Given the description of an element on the screen output the (x, y) to click on. 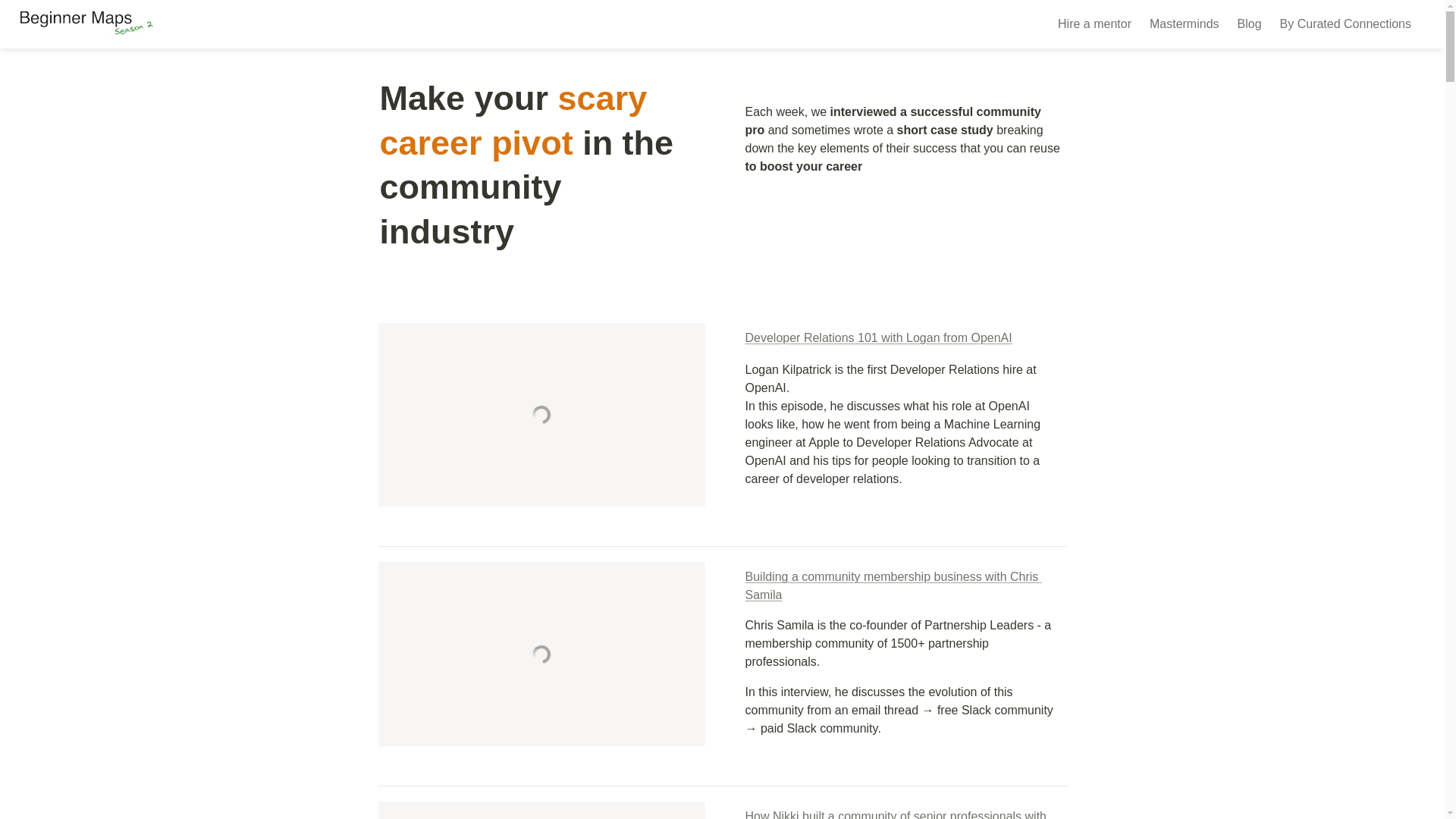
www.youtube.com (540, 810)
Building a community membership business with Chris Samila (892, 585)
Hire a mentor (1094, 23)
www.youtube.com (540, 414)
www.youtube.com (540, 653)
Masterminds (1184, 23)
By Curated Connections (1346, 23)
Developer Relations 101 with Logan from OpenAI (877, 337)
Blog (1249, 23)
